Given the description of an element on the screen output the (x, y) to click on. 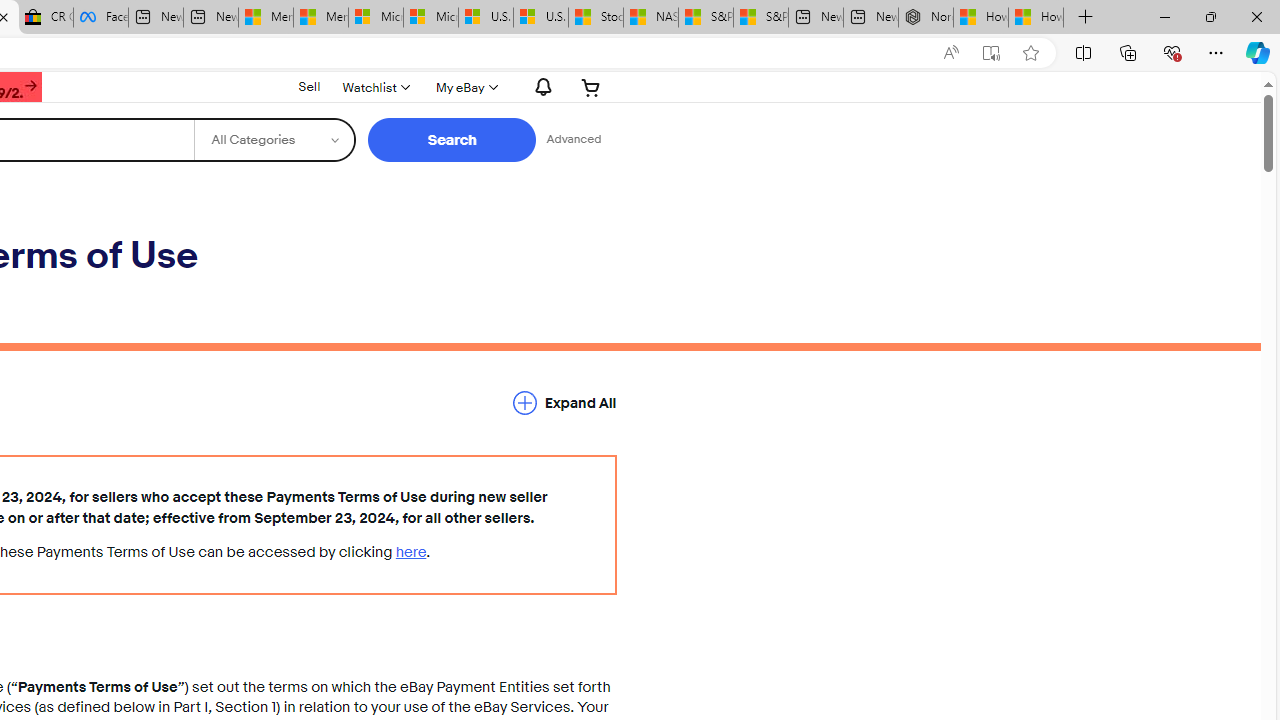
AutomationID: gh-eb-Alerts (540, 87)
Your shopping cart (591, 87)
Enter Immersive Reader (F9) (991, 53)
Expand Cart (591, 87)
Select a category for search (274, 139)
Sell (309, 87)
